Given the description of an element on the screen output the (x, y) to click on. 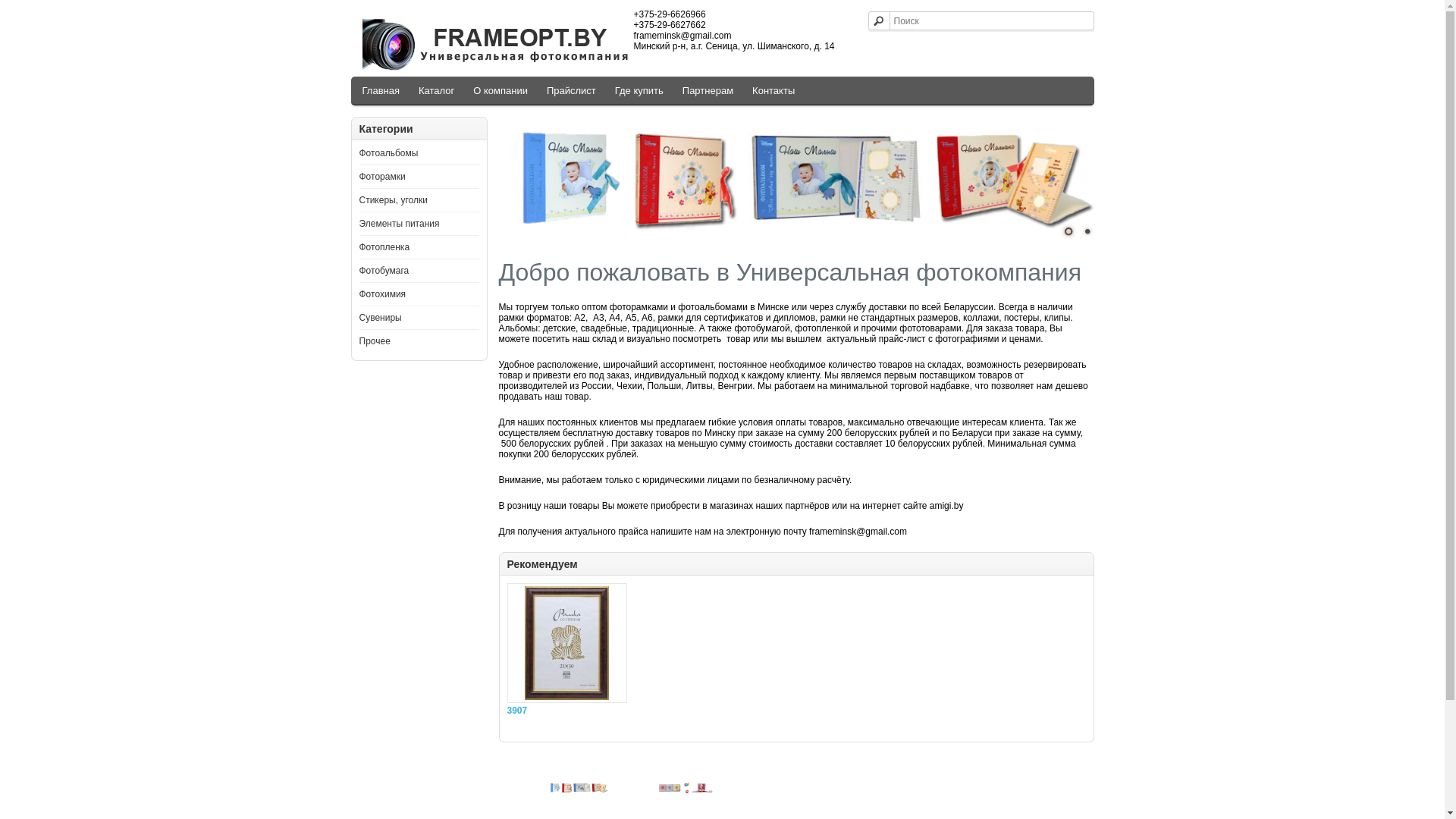
slide 2 Element type: hover (578, 787)
1 Element type: text (1068, 230)
2 Element type: text (1086, 230)
Slide 1 Element type: hover (685, 787)
3907 Element type: text (555, 710)
